Given the description of an element on the screen output the (x, y) to click on. 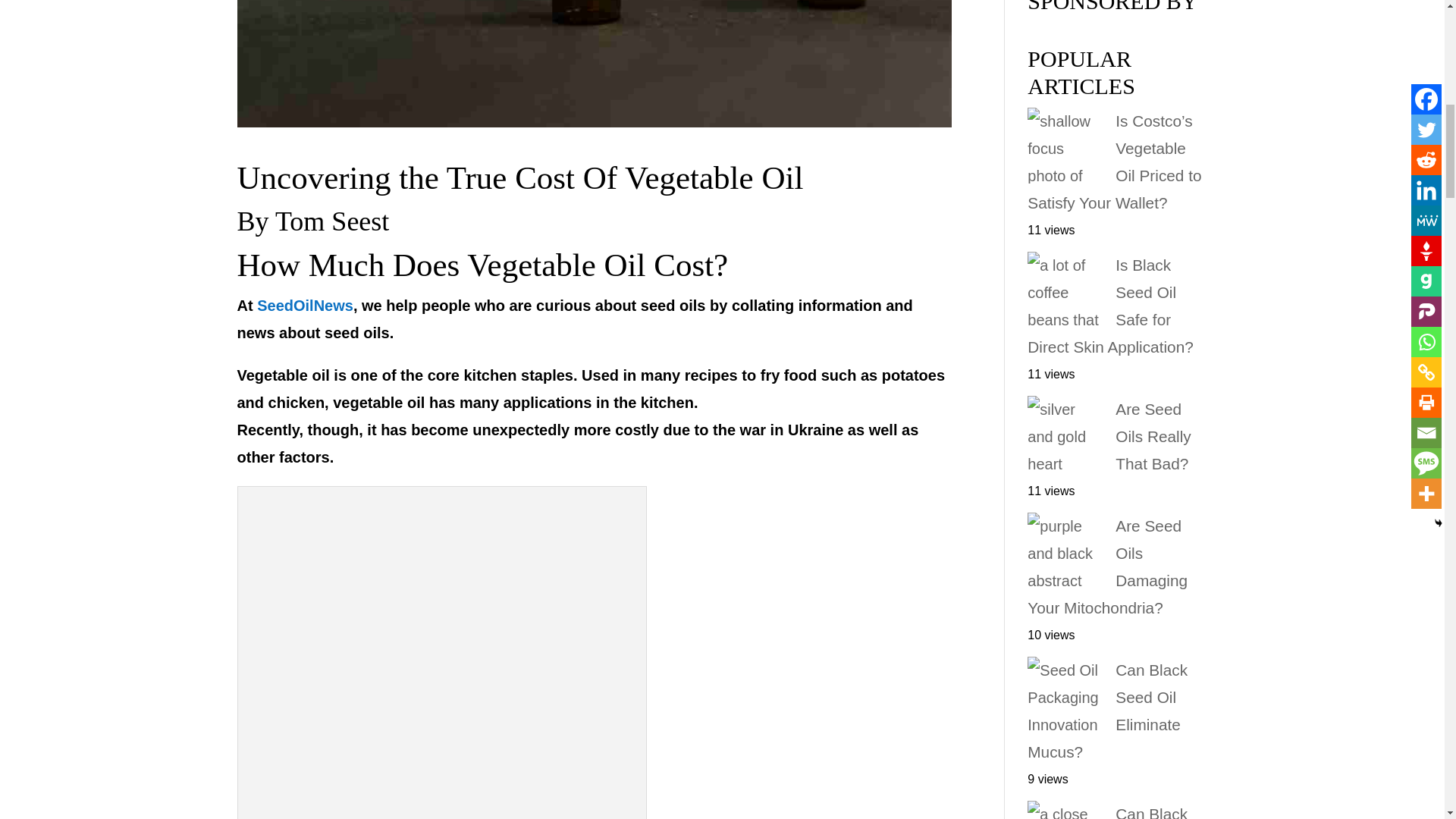
SeedOilNews (305, 305)
How Much Does Vegetable Oil Cost? (442, 656)
How Much Does Vegetable Oil Cost? (481, 264)
Tom Seest (331, 221)
